Given the description of an element on the screen output the (x, y) to click on. 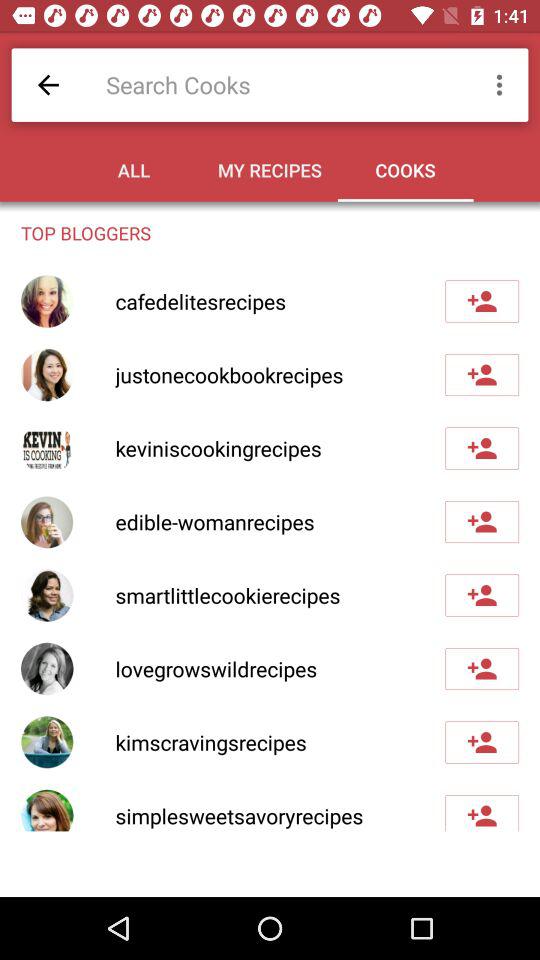
add user to your list (482, 742)
